Given the description of an element on the screen output the (x, y) to click on. 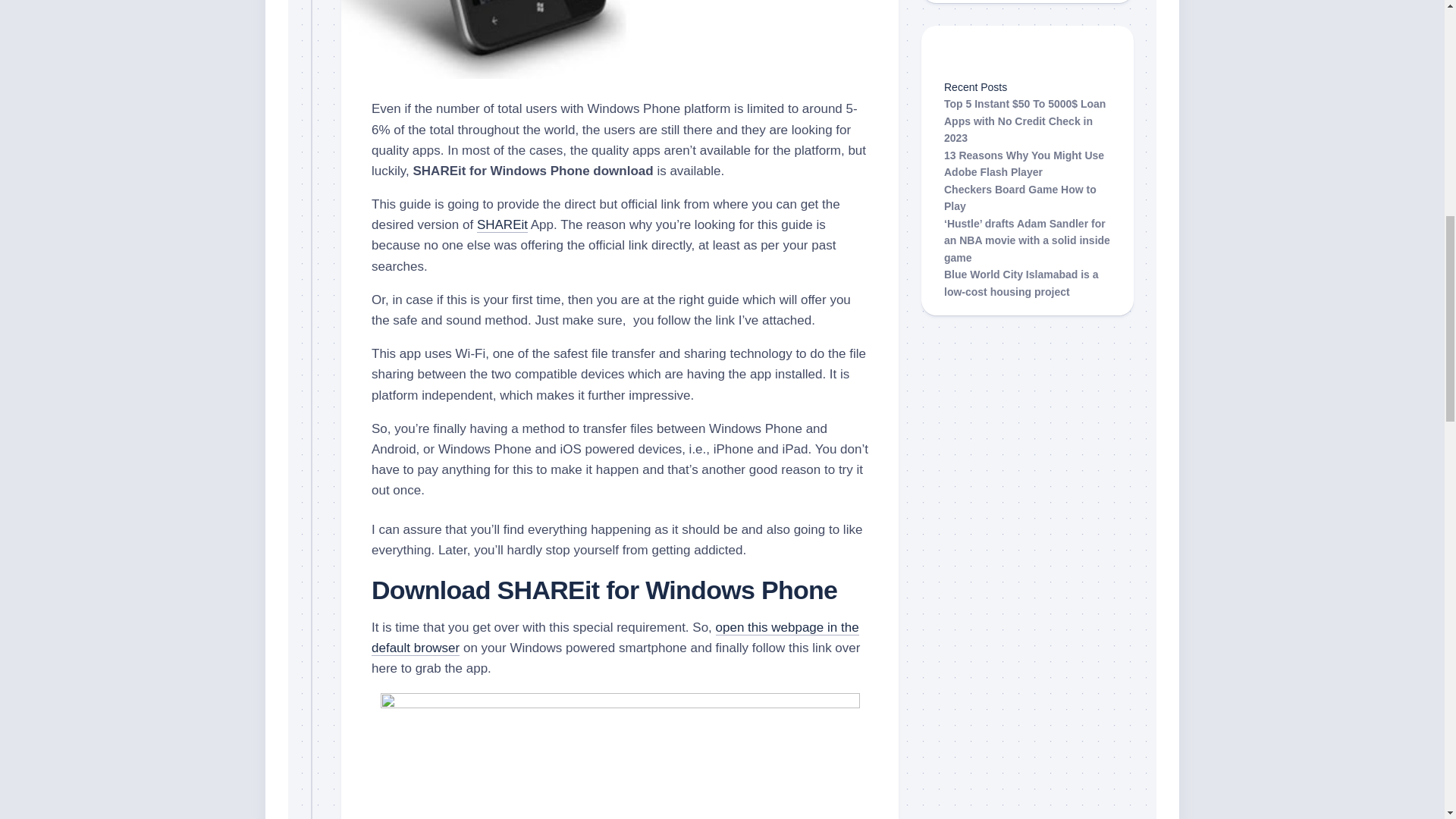
SHAREit (502, 224)
open this webpage in the default browser (615, 637)
